Given the description of an element on the screen output the (x, y) to click on. 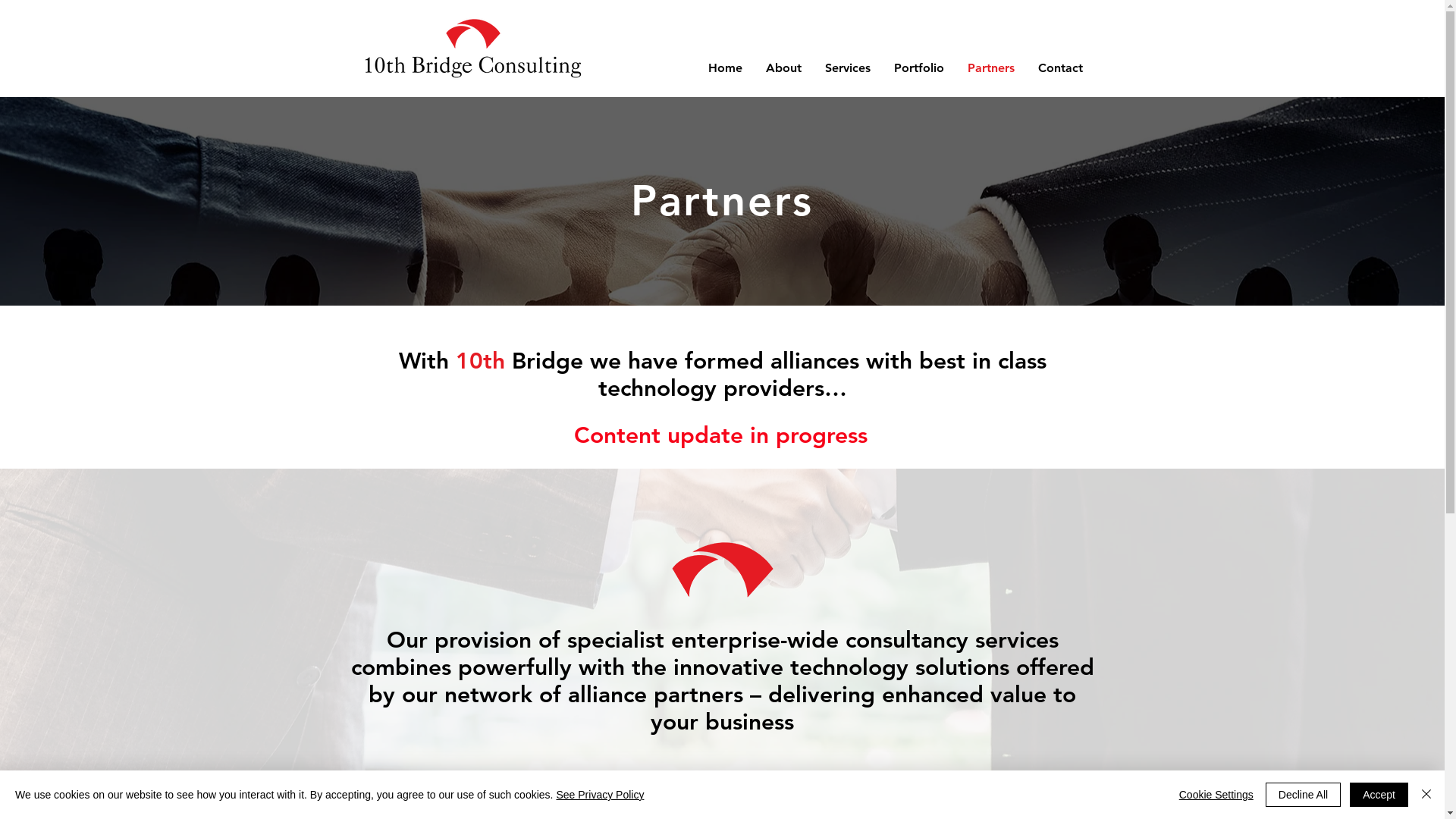
Accept Element type: text (1378, 794)
Decline All Element type: text (1302, 794)
Partners Element type: text (990, 67)
See Privacy Policy Element type: text (599, 794)
Services Element type: text (846, 67)
Home Element type: text (724, 67)
About Element type: text (782, 67)
Contact Element type: text (1060, 67)
Portfolio Element type: text (919, 67)
